Given the description of an element on the screen output the (x, y) to click on. 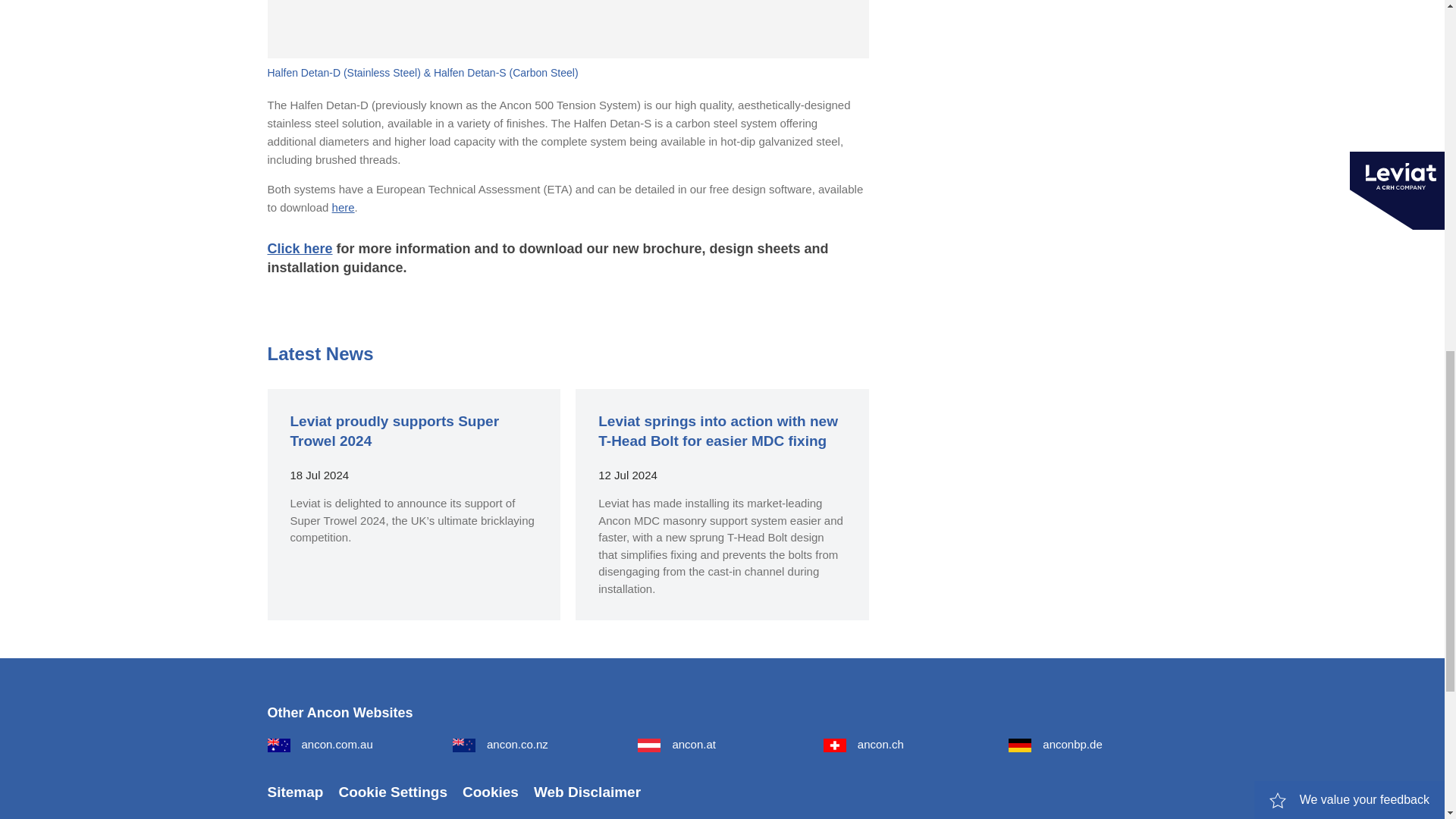
Web Disclaimer (587, 791)
Click here (298, 248)
anconbp.de (1055, 744)
Sitemap (294, 791)
ancon.at (676, 744)
ancon.co.nz (500, 744)
here (343, 206)
Cookie Settings (391, 791)
ancon.com.au (319, 744)
ancon.ch (864, 744)
Latest News (319, 353)
Cookies (490, 791)
Leviat proudly supports Super Trowel 2024 (394, 431)
